Given the description of an element on the screen output the (x, y) to click on. 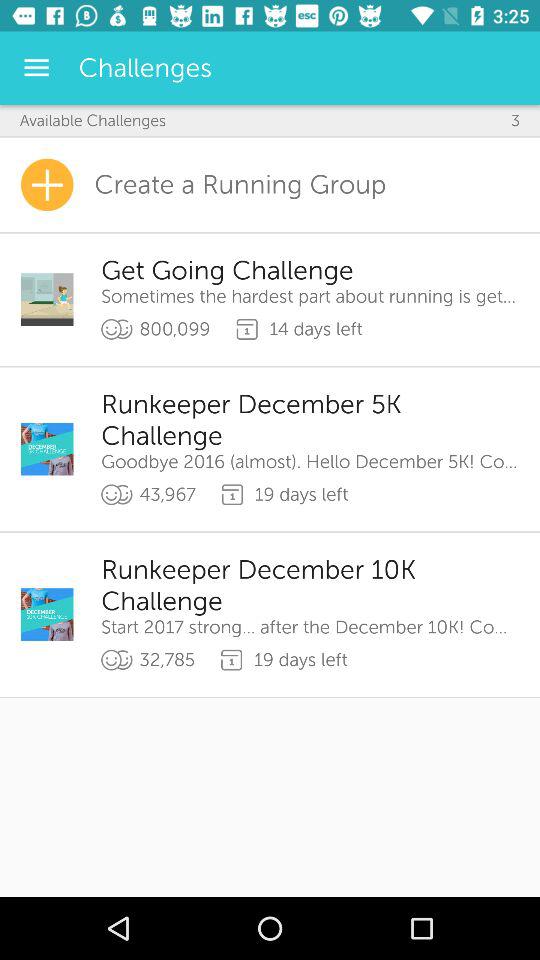
launch app next to challenges icon (36, 68)
